Given the description of an element on the screen output the (x, y) to click on. 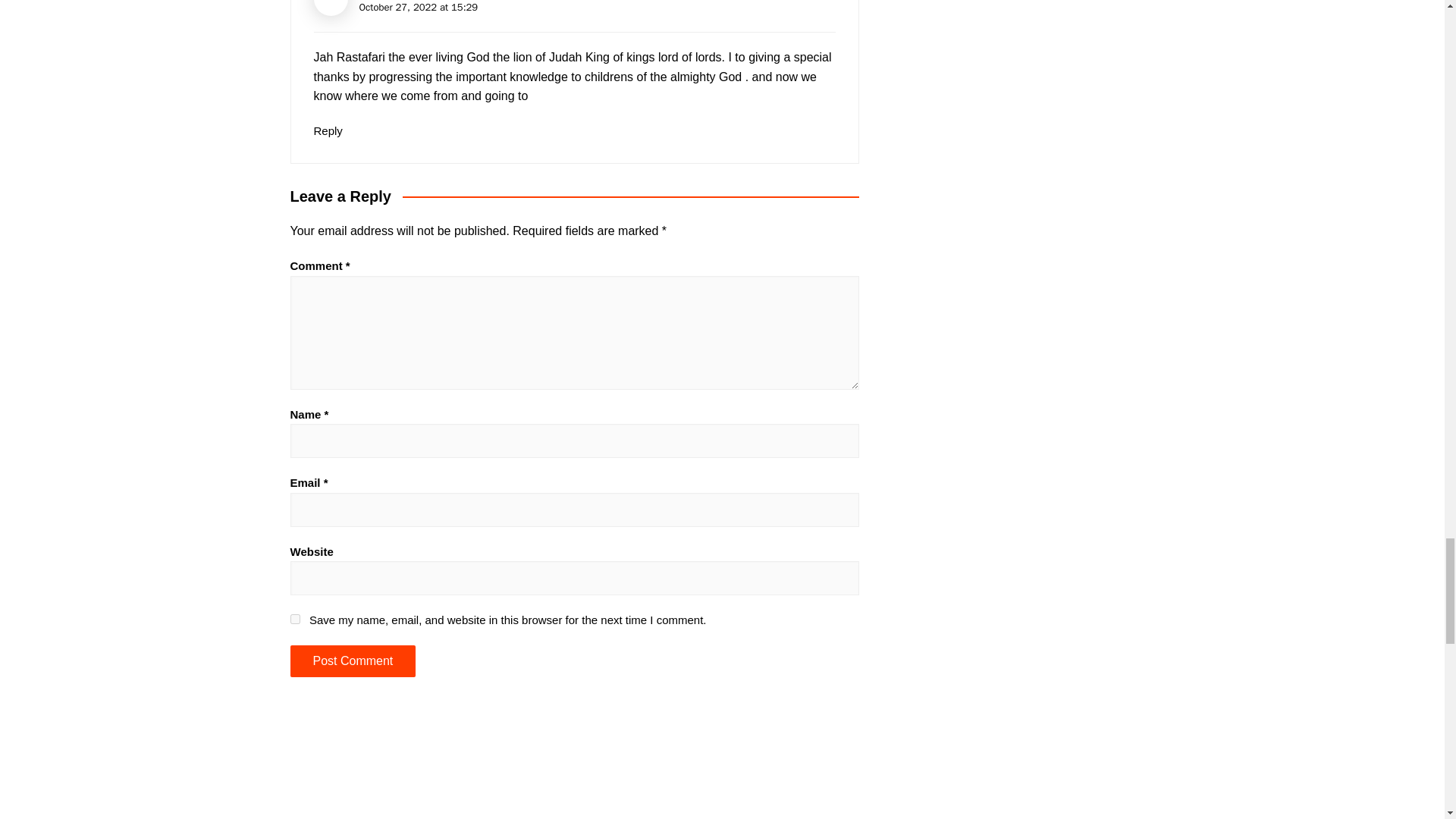
Post Comment (351, 661)
yes (294, 619)
